Given the description of an element on the screen output the (x, y) to click on. 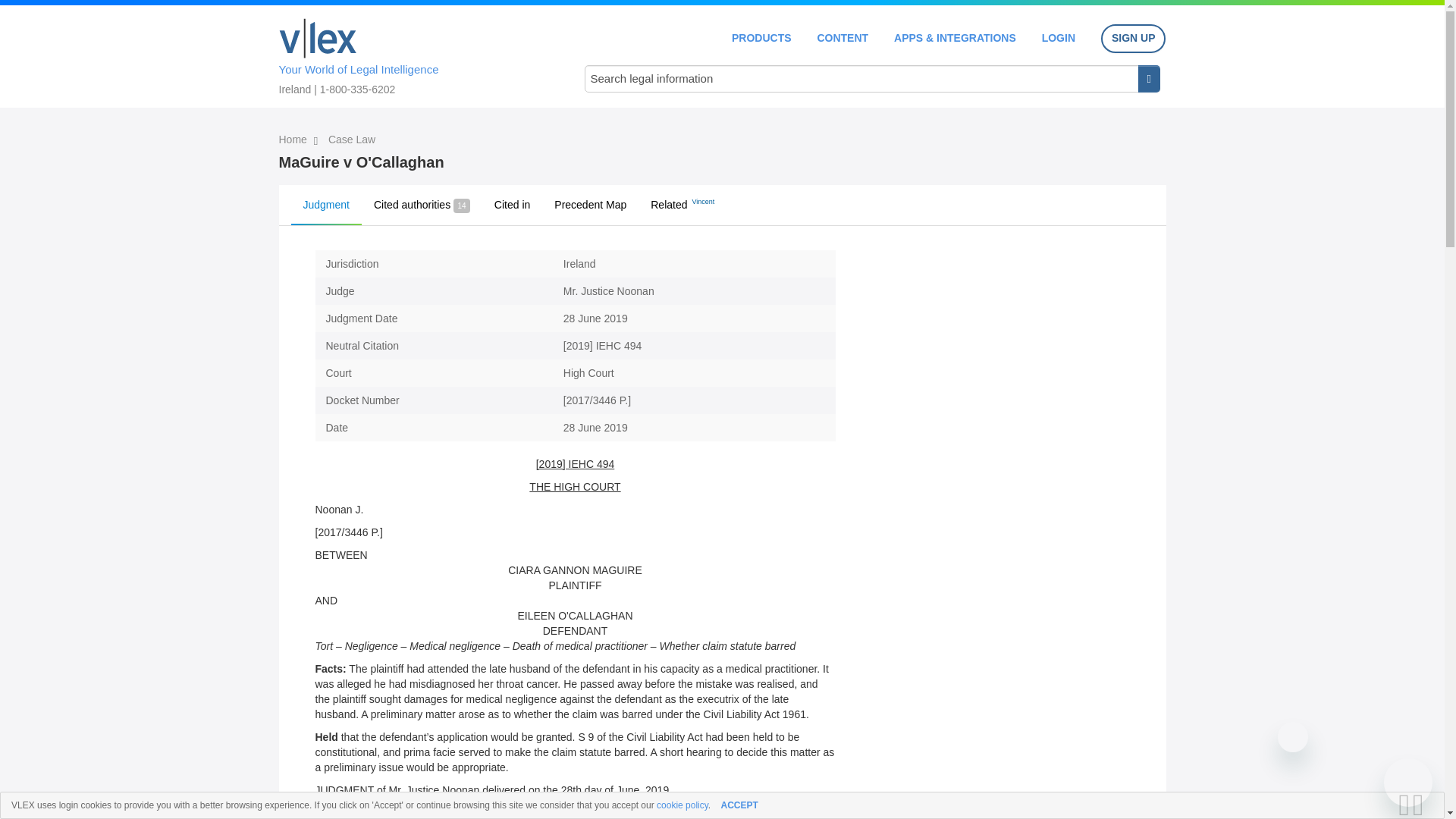
PRODUCTS (762, 37)
Your World of Legal Intelligence (416, 53)
Home (317, 38)
CLOSE (1422, 805)
cookie policy (681, 805)
CONTENT (841, 37)
Close message (1292, 736)
Case Law (352, 139)
SIGN UP (1133, 38)
ACCEPT (739, 805)
LOGIN (1058, 37)
Home (294, 139)
Button to launch messaging window (1408, 782)
